Given the description of an element on the screen output the (x, y) to click on. 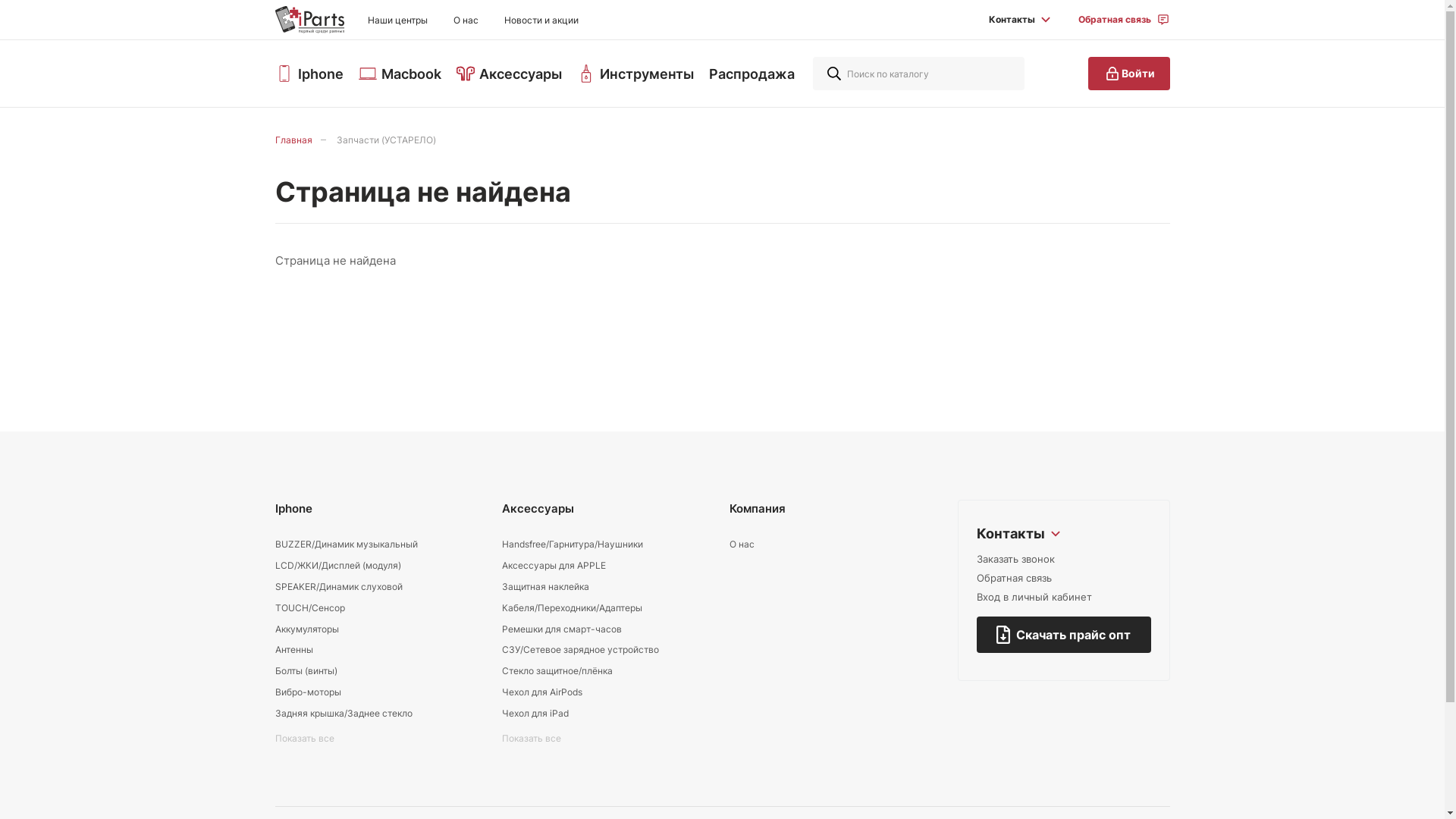
Iphone Element type: text (308, 73)
Macbook Element type: text (399, 73)
